Given the description of an element on the screen output the (x, y) to click on. 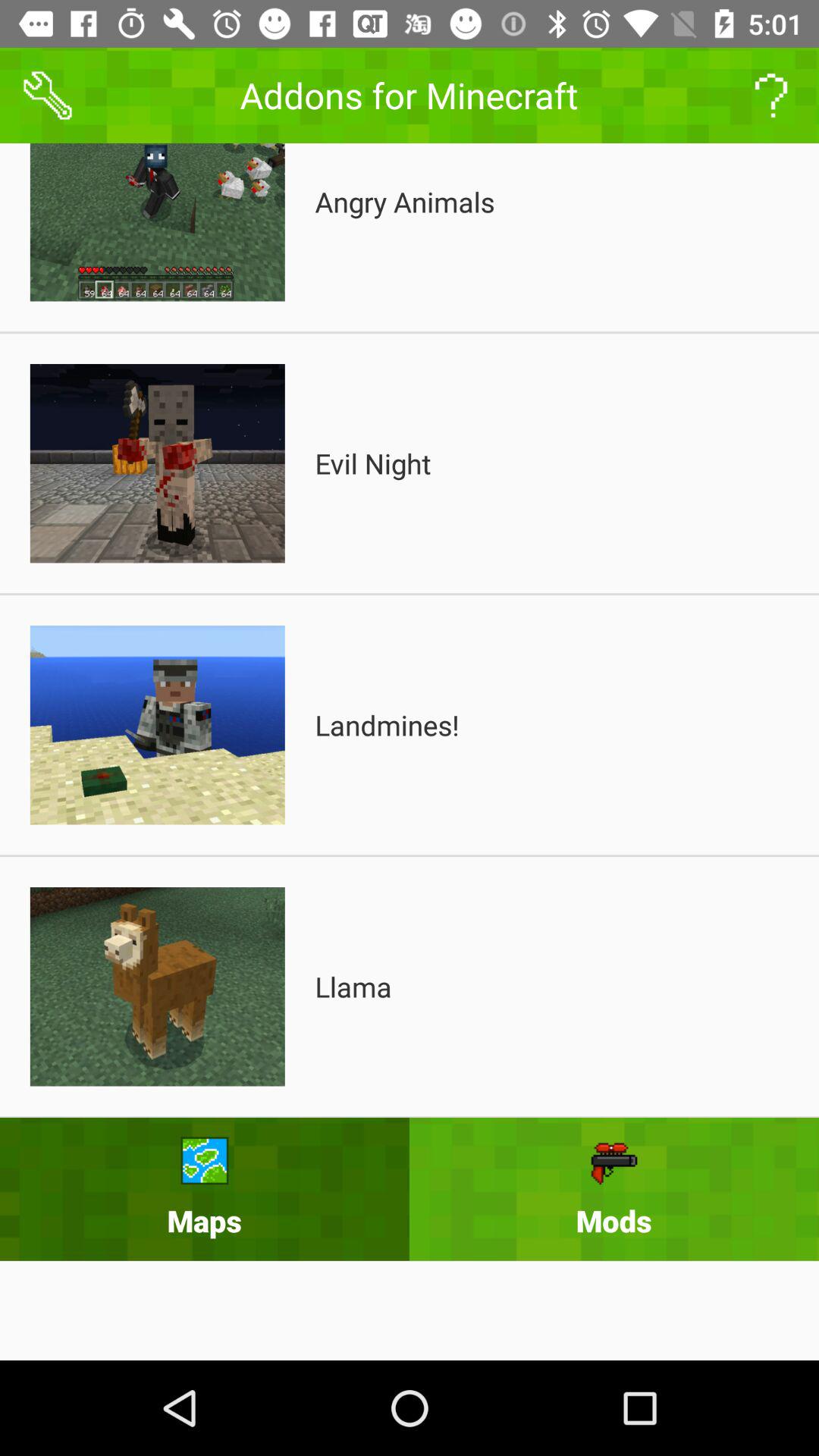
tap item to the right of addons for minecraft (771, 95)
